Given the description of an element on the screen output the (x, y) to click on. 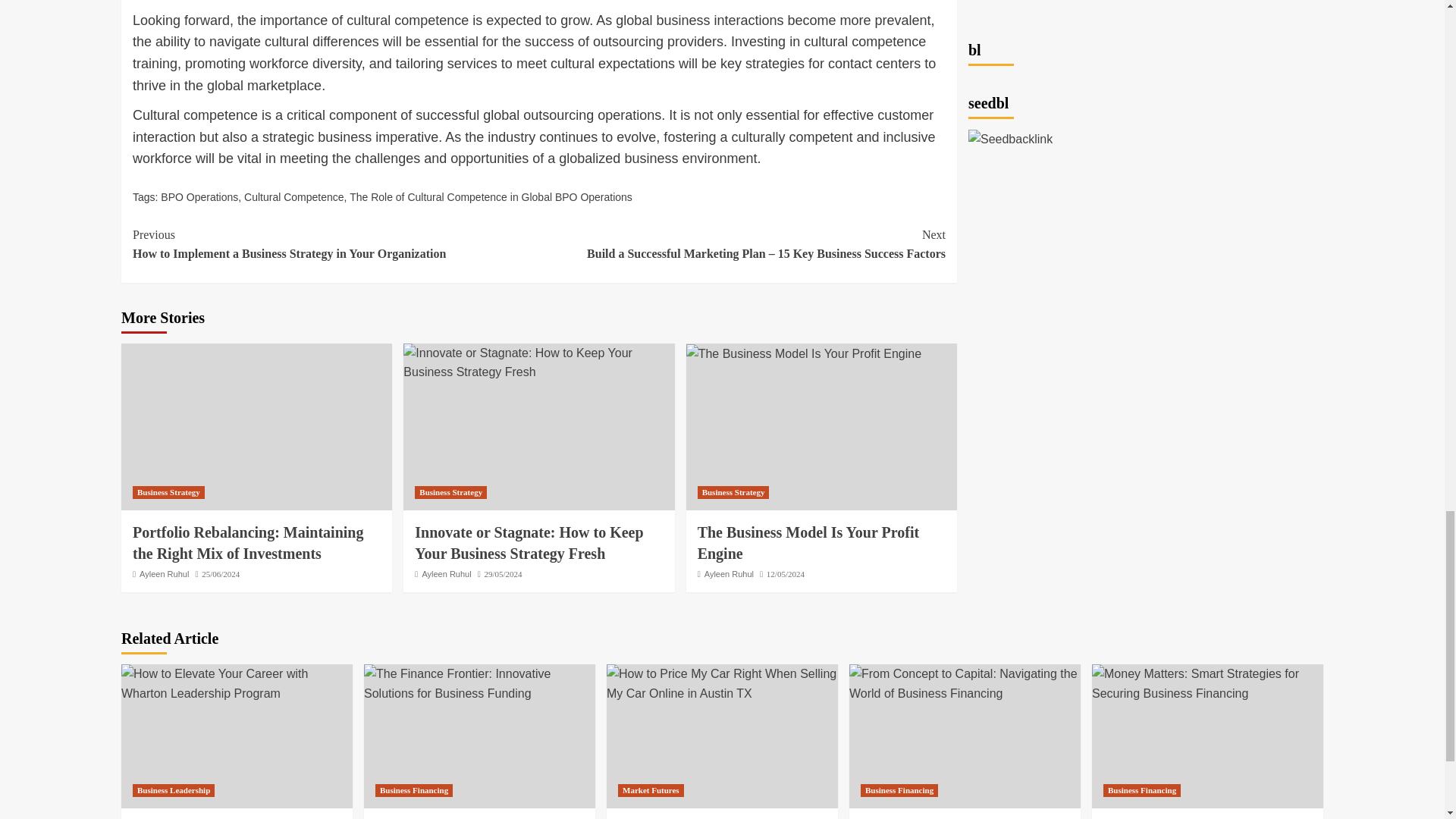
Cultural Competence (293, 196)
BPO Operations (199, 196)
How to Elevate Your Career with Wharton Leadership Program (236, 683)
The Business Model Is Your Profit Engine (803, 353)
The Role of Cultural Competence in Global BPO Operations (490, 196)
Ayleen Ruhul (164, 573)
Business Strategy (450, 492)
Ayleen Ruhul (446, 573)
Business Strategy (168, 492)
